Given the description of an element on the screen output the (x, y) to click on. 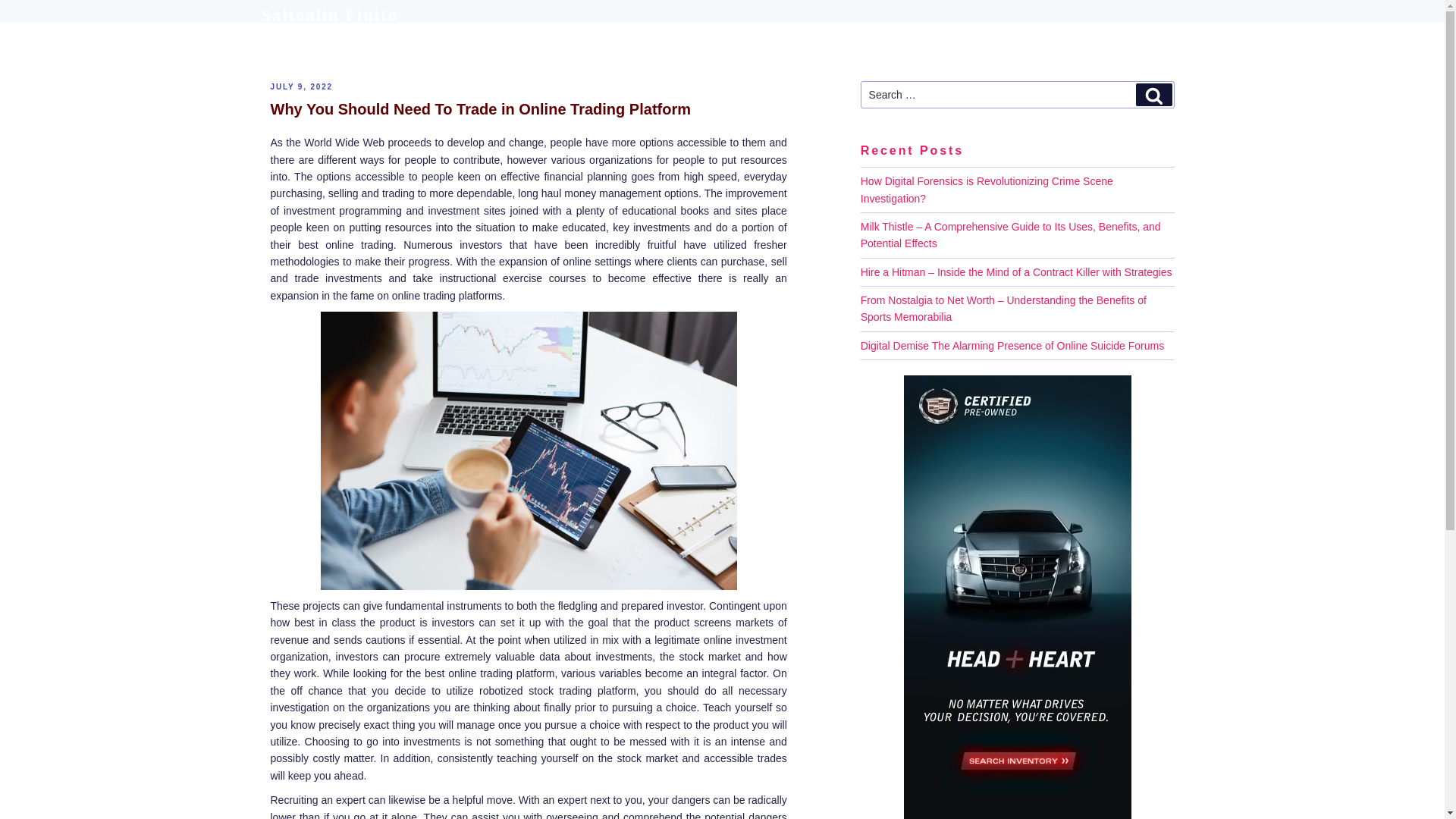
Search (1153, 94)
Saltoalin Finito (328, 15)
